Given the description of an element on the screen output the (x, y) to click on. 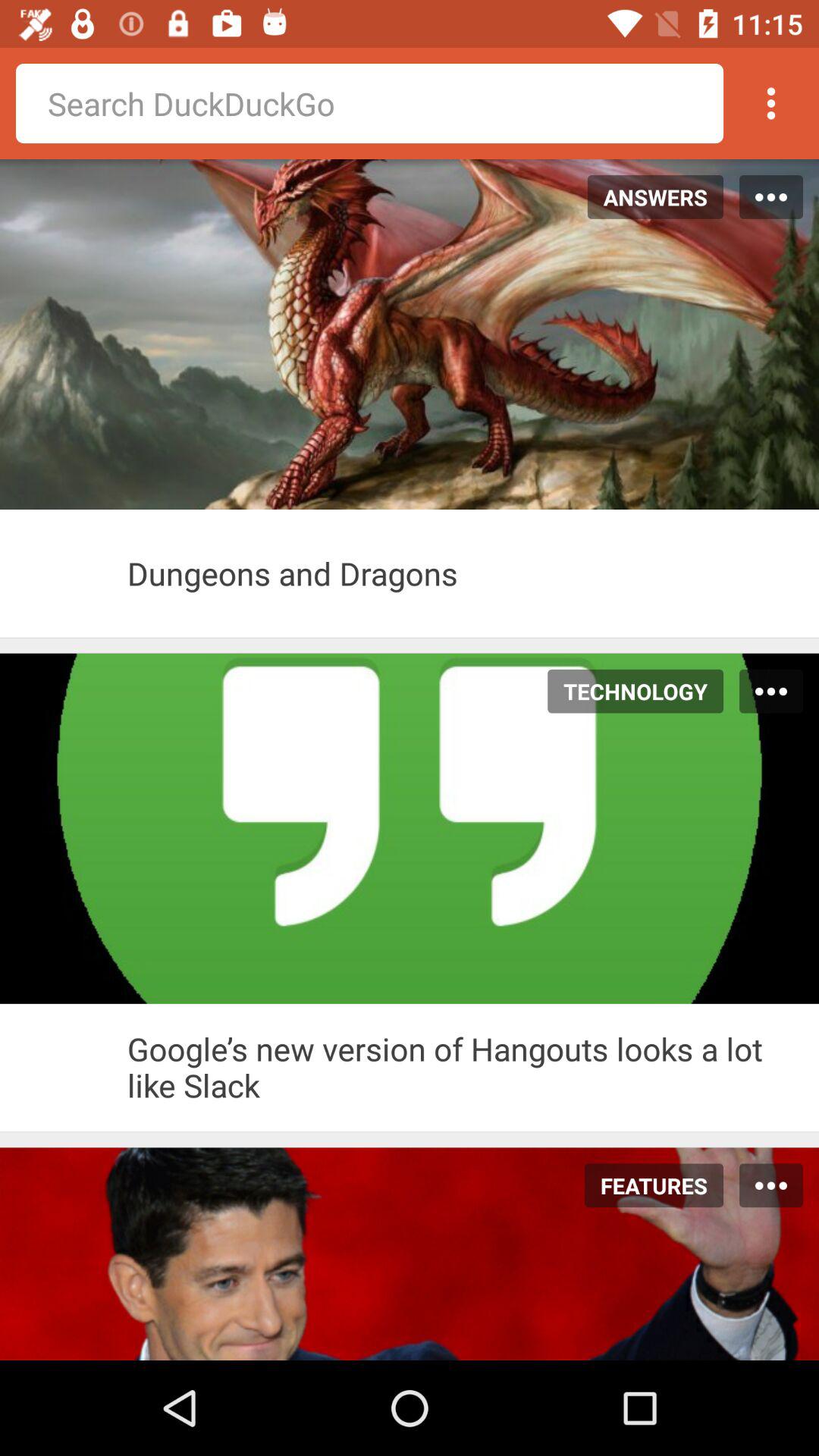
settings button (771, 103)
